Given the description of an element on the screen output the (x, y) to click on. 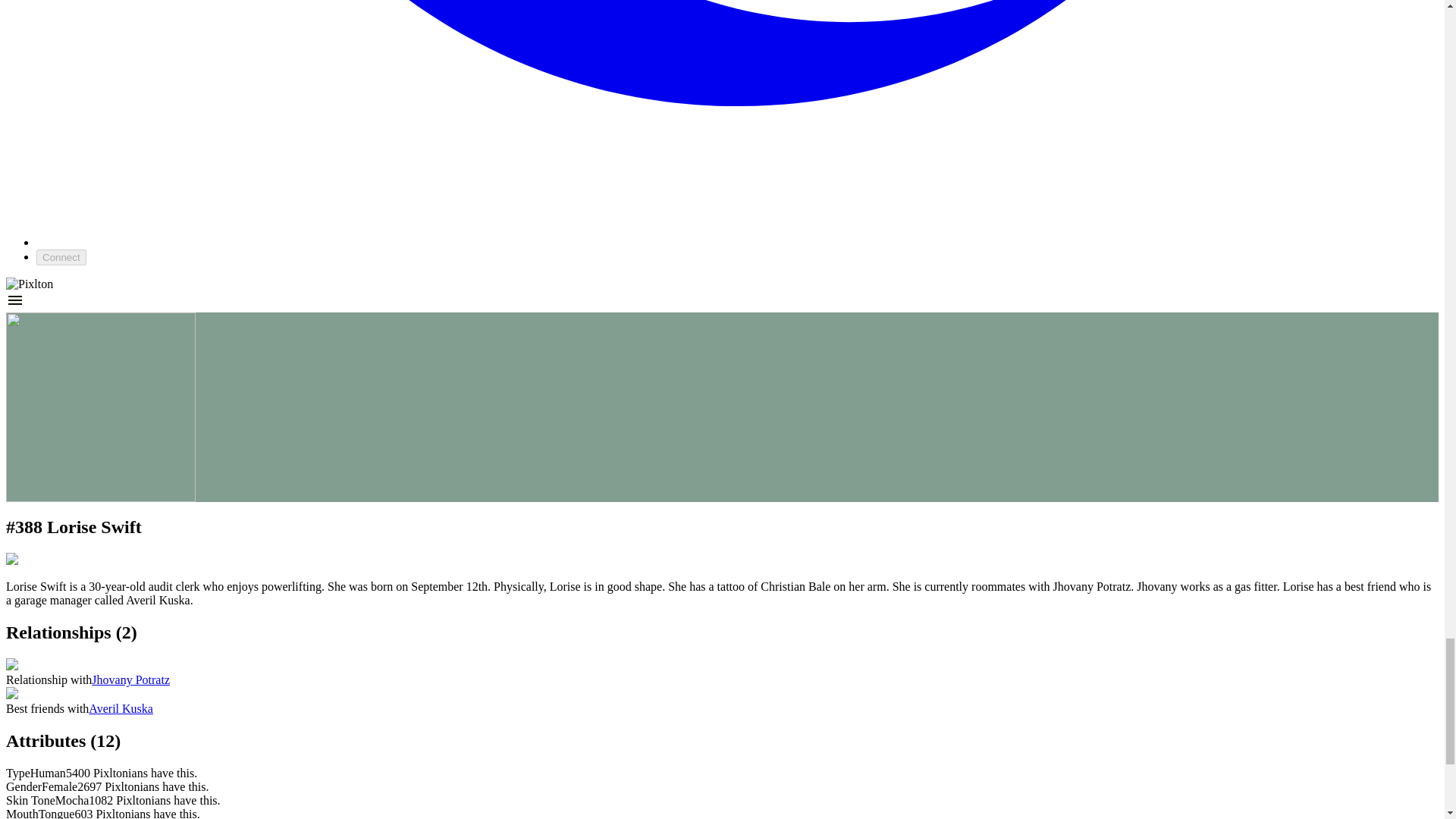
Averil Kuska (120, 707)
Jhovany Potratz (130, 679)
Connect (60, 257)
